Given the description of an element on the screen output the (x, y) to click on. 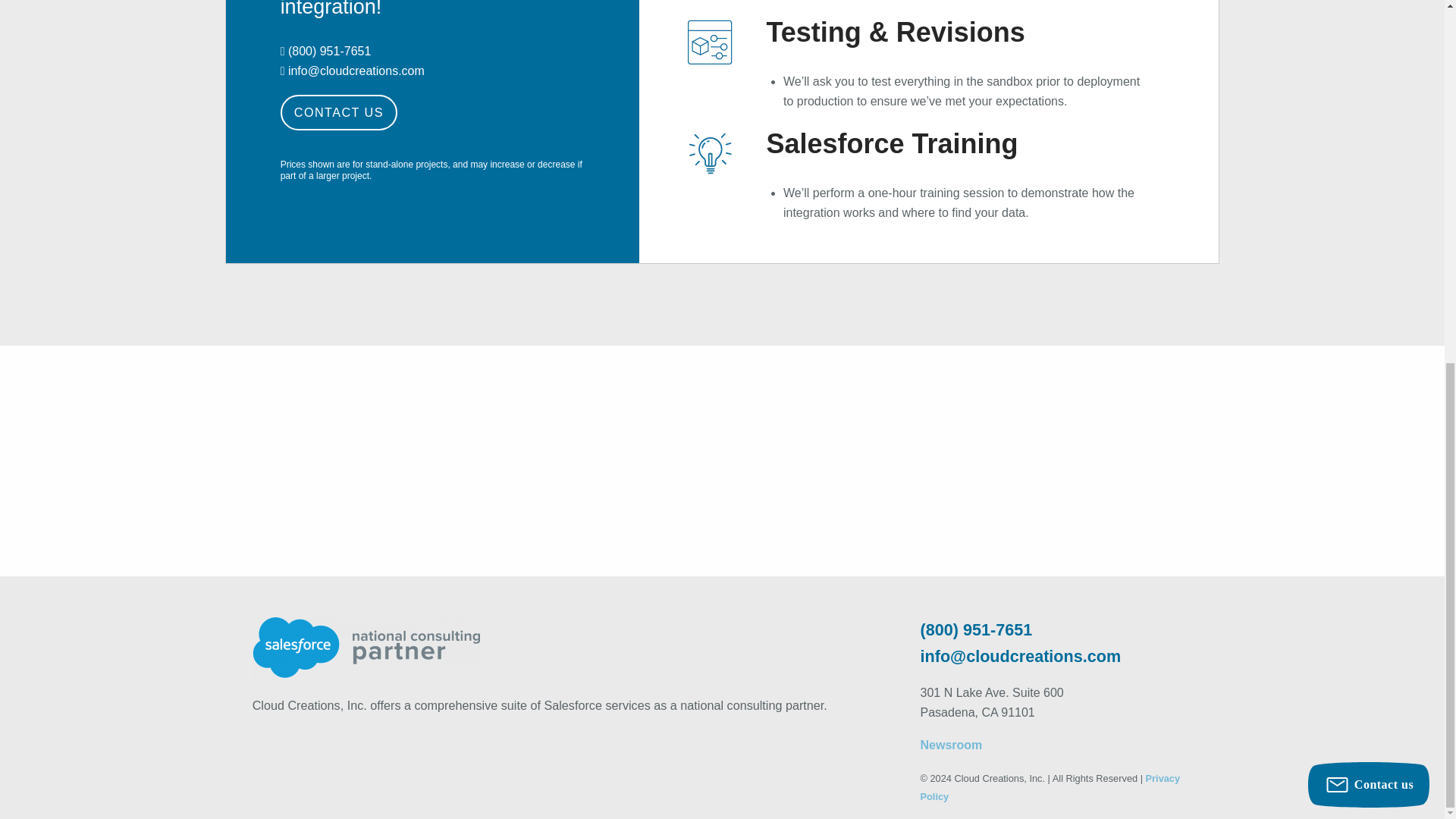
Privacy Policy (1050, 787)
Contact us (1368, 135)
Newsroom (951, 744)
CONTACT US (339, 113)
